Given the description of an element on the screen output the (x, y) to click on. 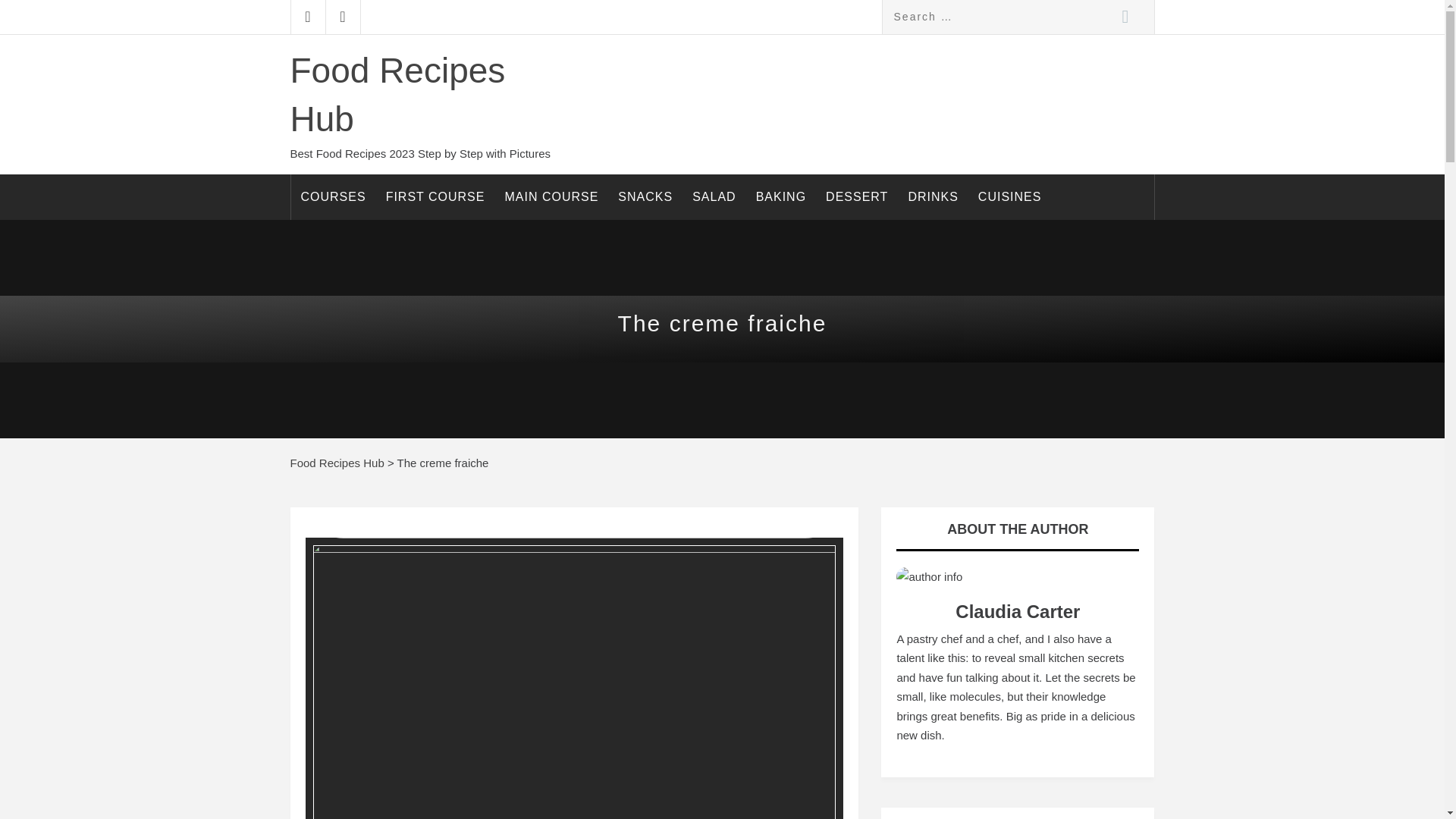
Search (1124, 17)
Food Recipes Hub (397, 94)
Go to Food Recipes Hub. (336, 462)
COURSES (333, 197)
Search (1124, 17)
FIRST COURSE (435, 197)
Search (1124, 17)
MAIN COURSE (551, 197)
